Given the description of an element on the screen output the (x, y) to click on. 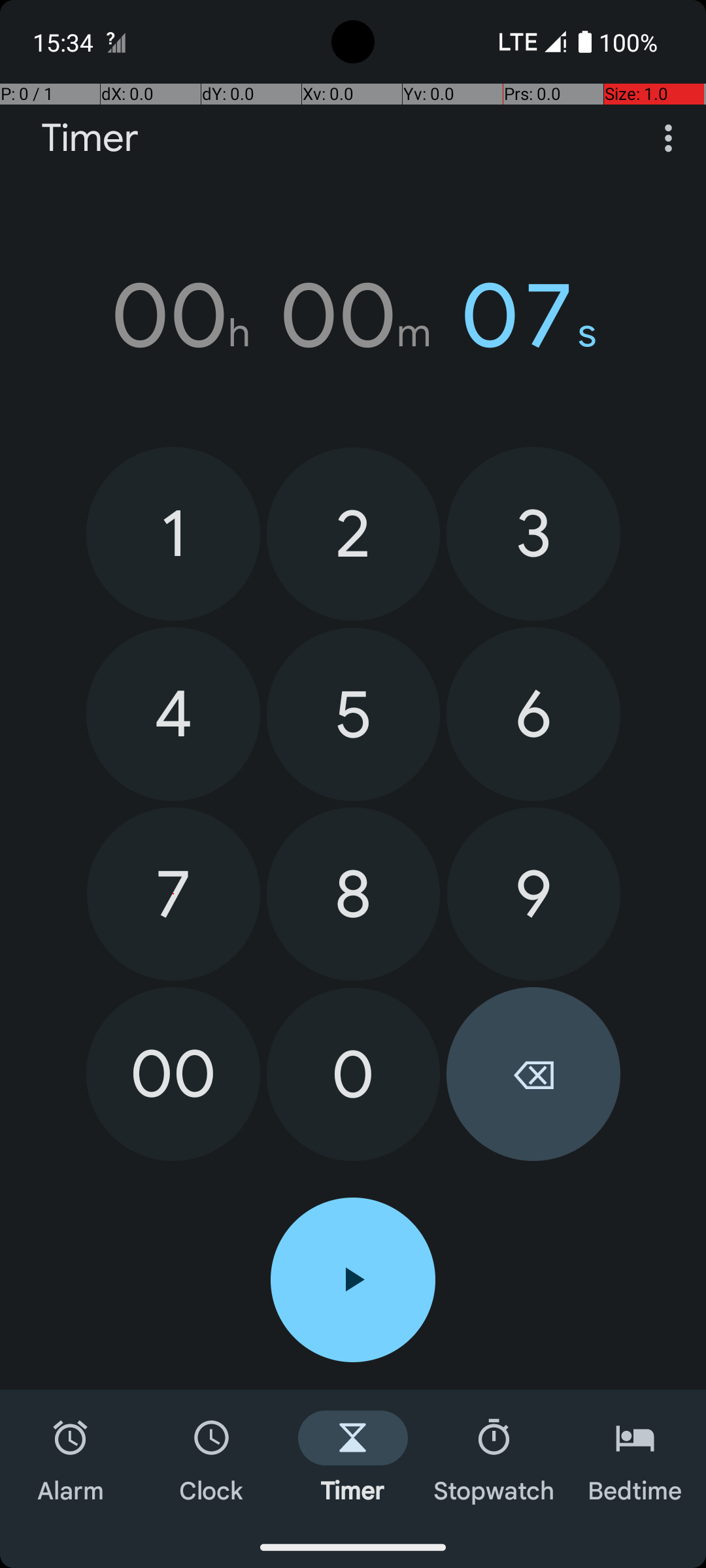
00h 00m 07s Element type: android.widget.TextView (353, 315)
